Given the description of an element on the screen output the (x, y) to click on. 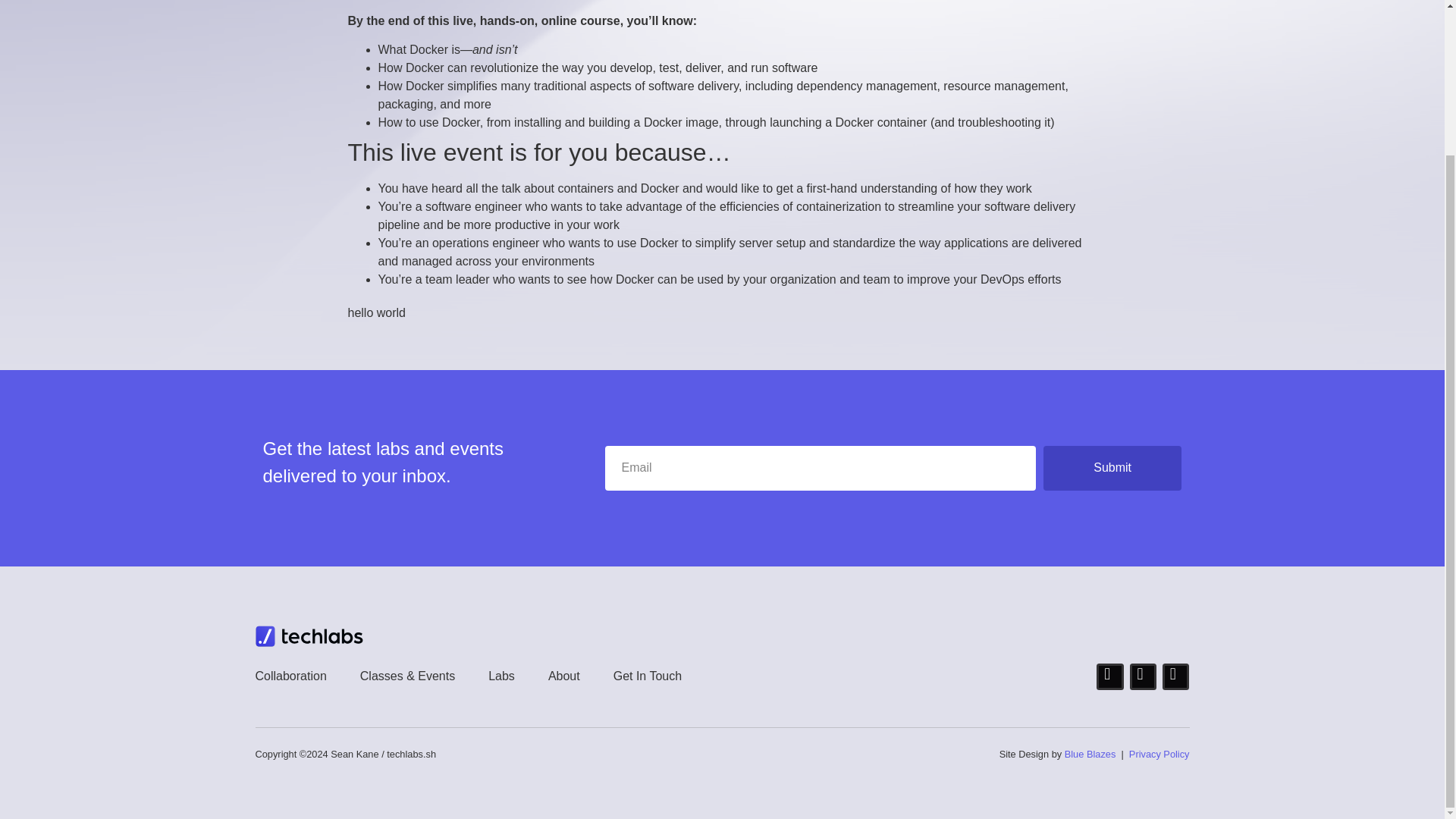
Collaboration (290, 676)
Submit (1112, 467)
Get In Touch (646, 676)
Blue Blazes (1090, 754)
Privacy Policy (1159, 754)
Labs (501, 676)
About (563, 676)
